Given the description of an element on the screen output the (x, y) to click on. 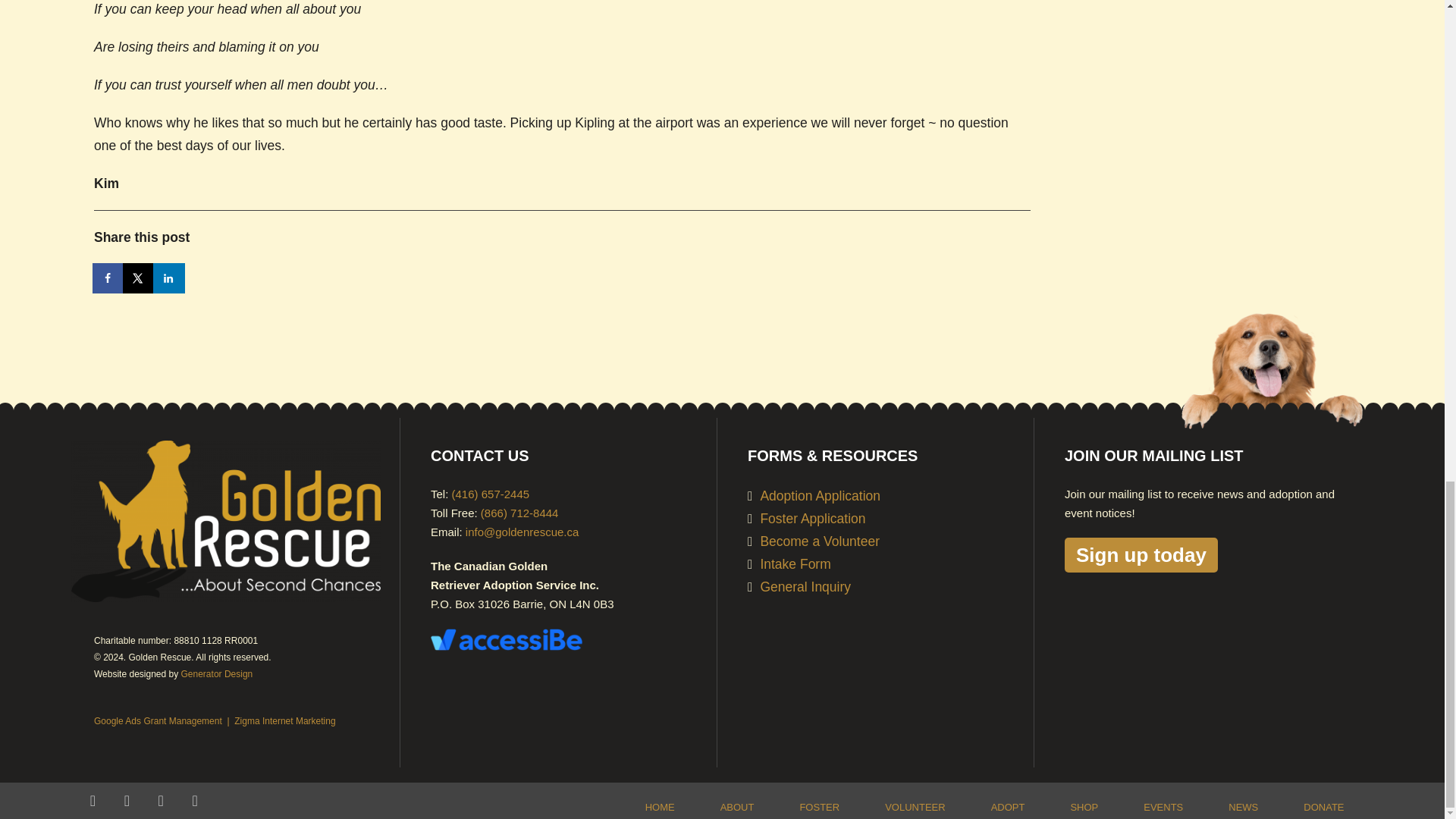
Share on X (138, 277)
Visit GeneratorDesign.com (216, 674)
Share on Facebook (108, 277)
Share on LinkedIn (169, 277)
